Given the description of an element on the screen output the (x, y) to click on. 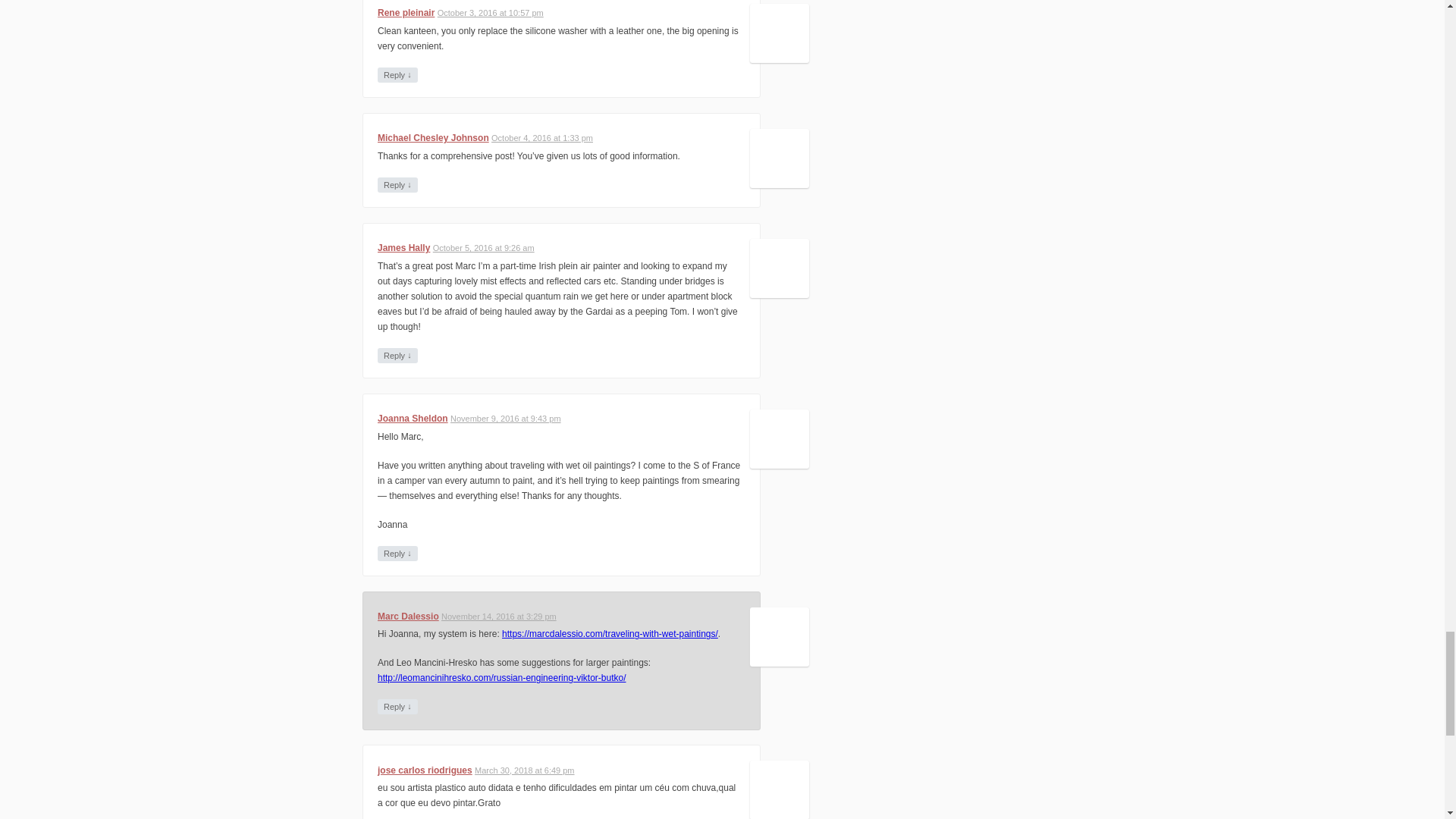
Joanna Sheldon (412, 418)
Michael Chesley Johnson (433, 137)
October 3, 2016 at 10:57 pm (490, 12)
Rene pleinair (405, 12)
James Hally (403, 247)
October 4, 2016 at 1:33 pm (542, 137)
October 5, 2016 at 9:26 am (483, 247)
November 9, 2016 at 9:43 pm (504, 418)
